Given the description of an element on the screen output the (x, y) to click on. 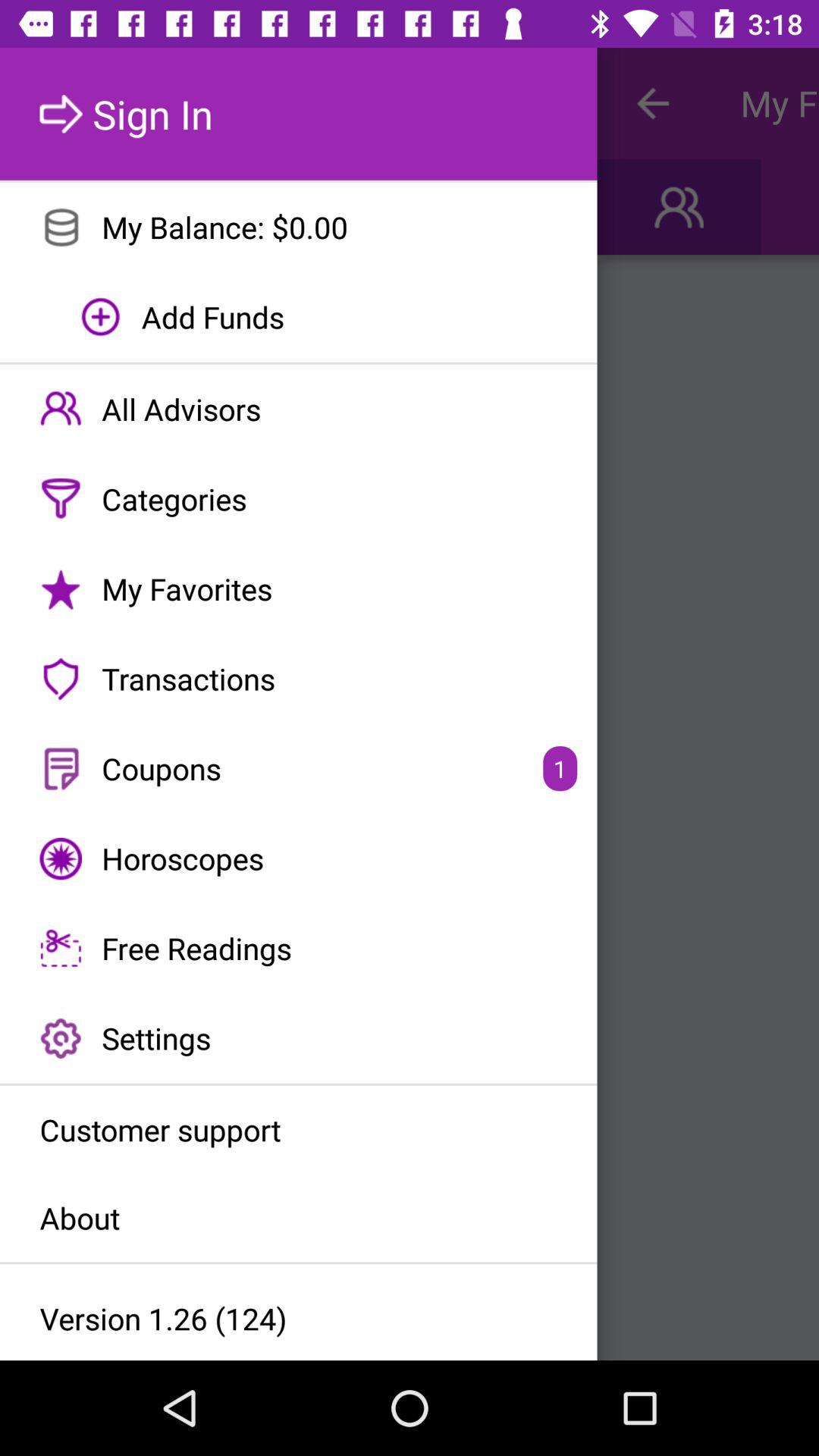
flip to categories (298, 499)
